Given the description of an element on the screen output the (x, y) to click on. 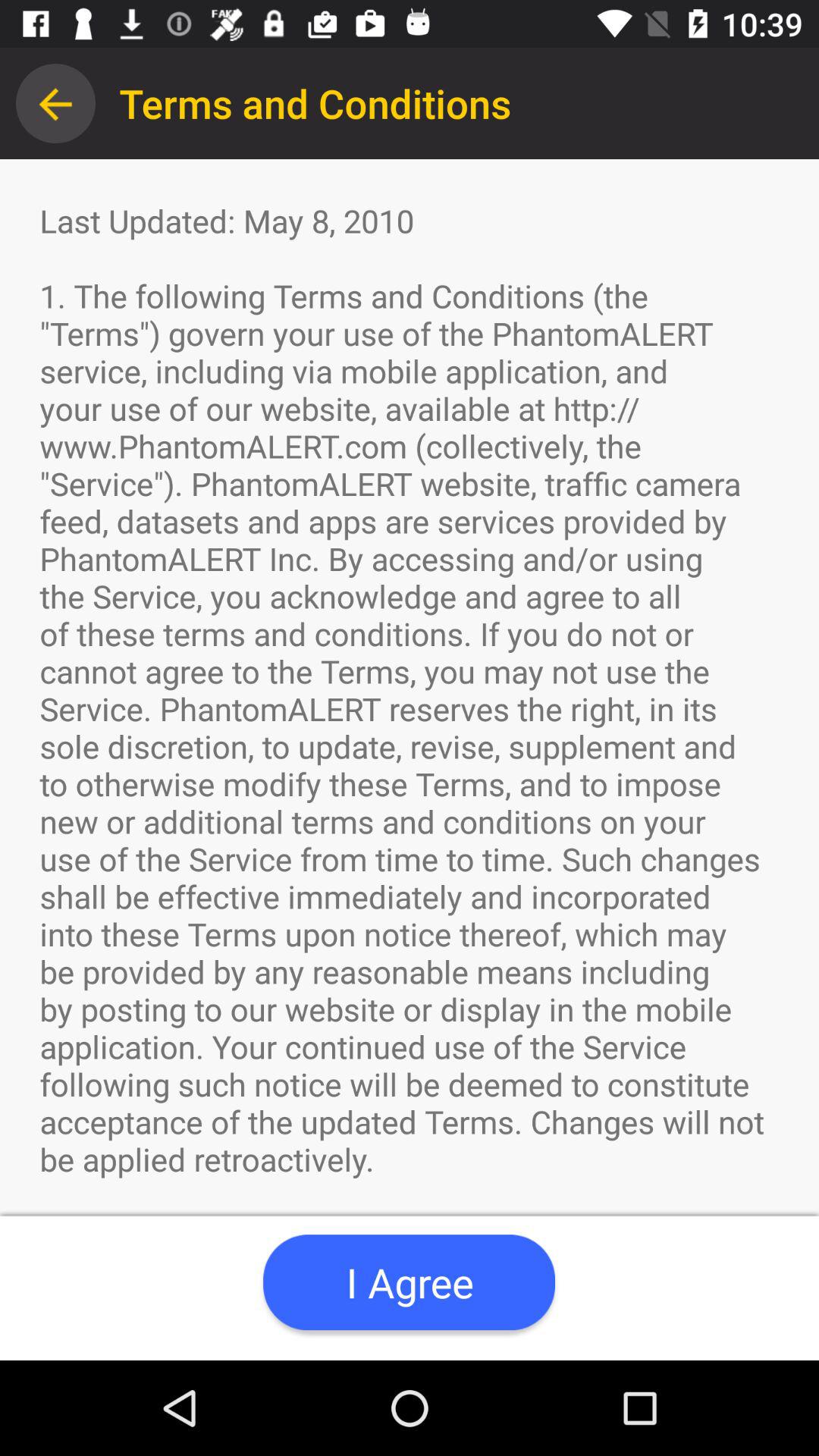
open i agree icon (409, 1282)
